Given the description of an element on the screen output the (x, y) to click on. 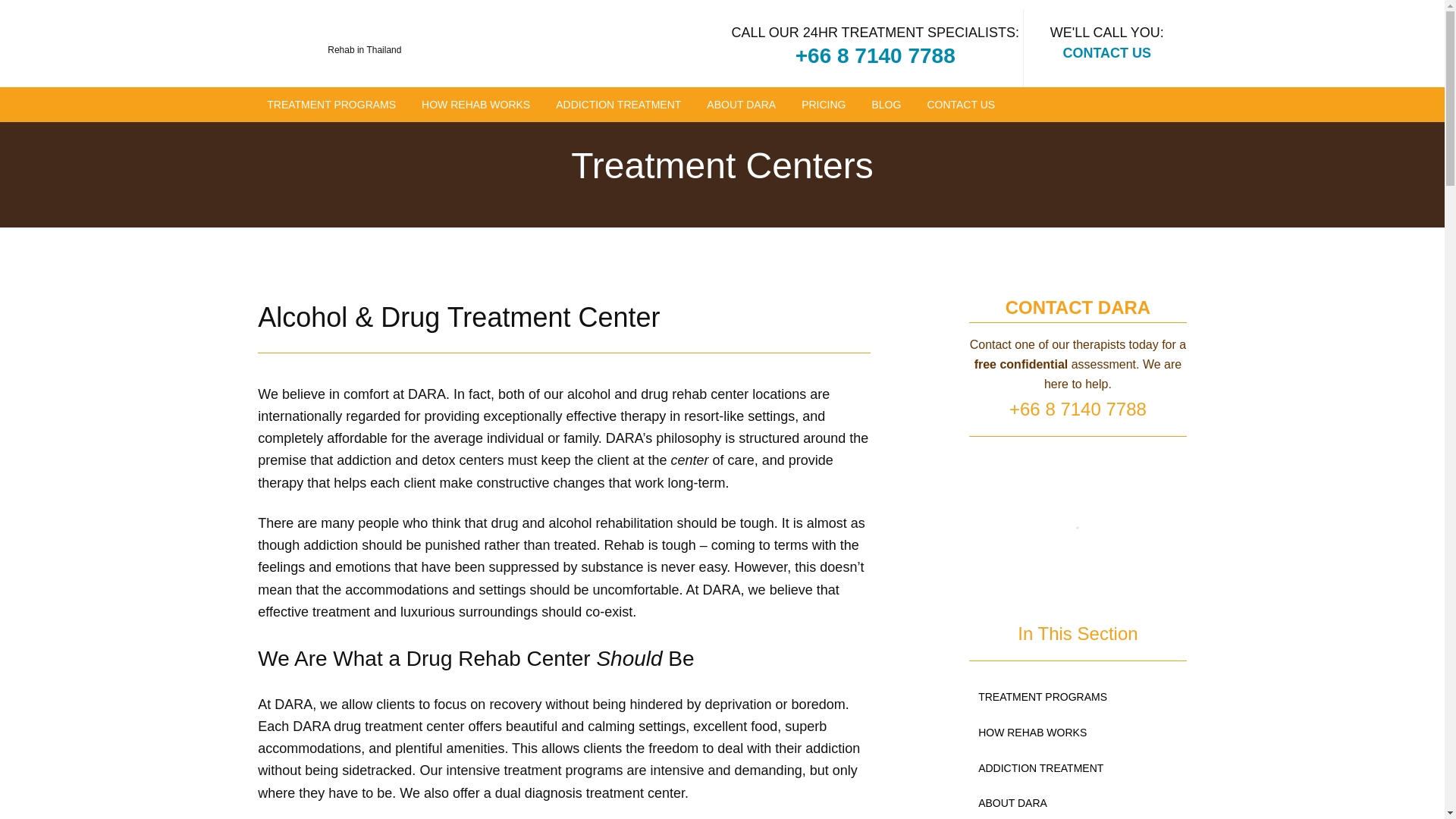
TREATMENT PROGRAMS (330, 104)
ABOUT DARA (740, 104)
DARA Drug and Alcohol Rehab Thailand (341, 34)
HOW REHAB WORKS (475, 104)
ADDICTION TREATMENT (618, 104)
CONTACT US (1106, 52)
